Given the description of an element on the screen output the (x, y) to click on. 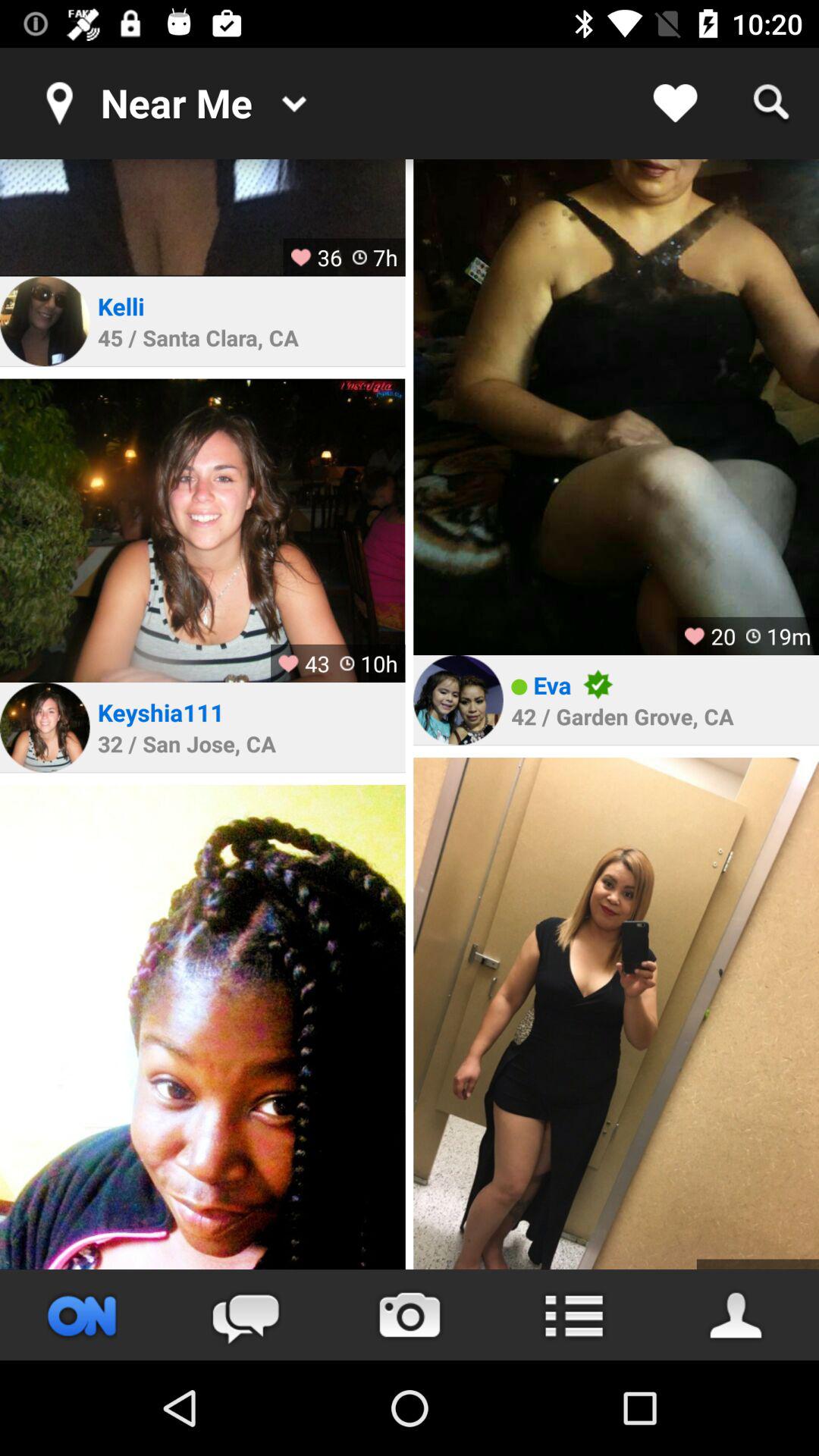
press the keyshia111 icon (160, 712)
